Given the description of an element on the screen output the (x, y) to click on. 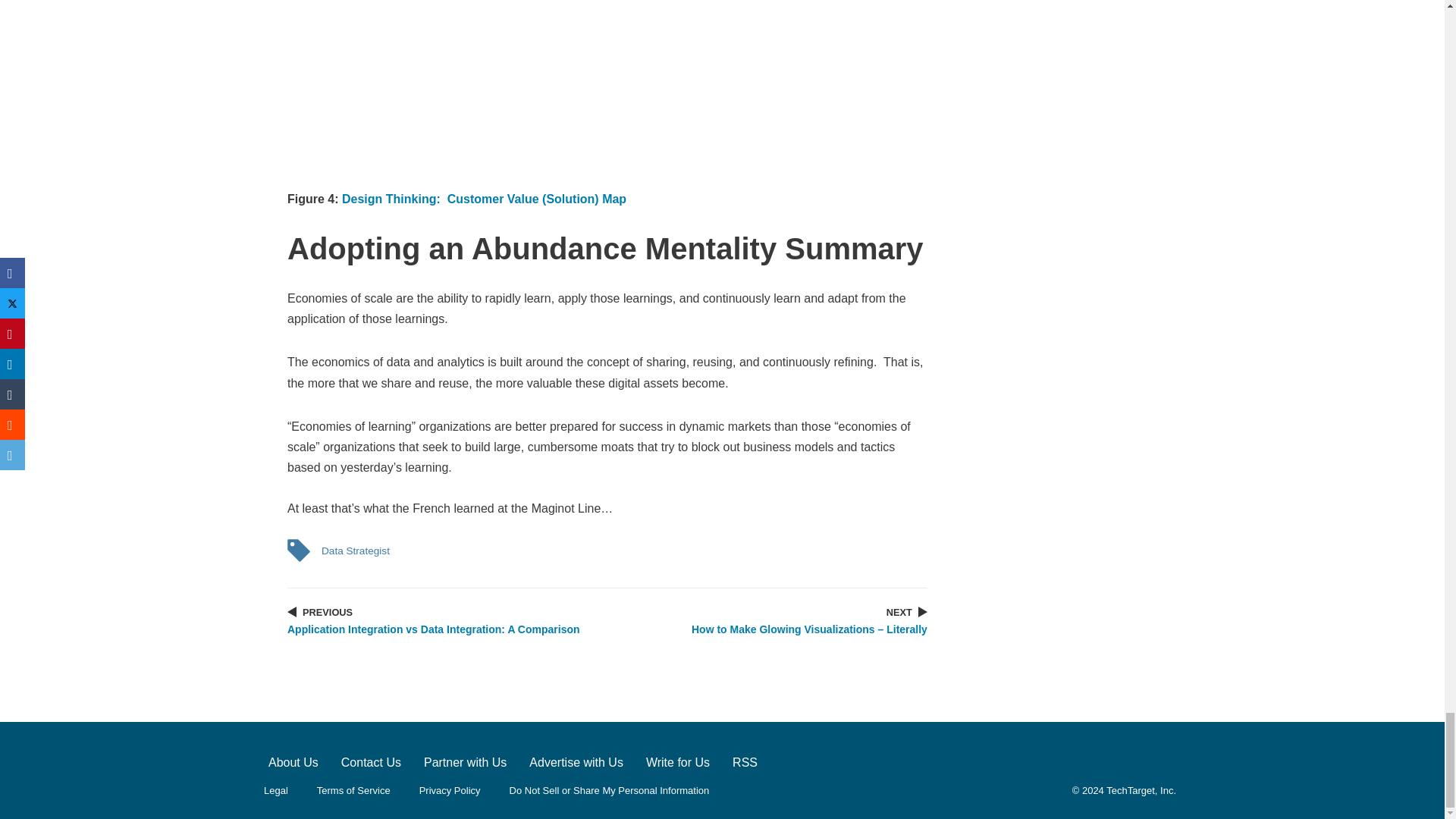
Data Strategist (355, 551)
